Given the description of an element on the screen output the (x, y) to click on. 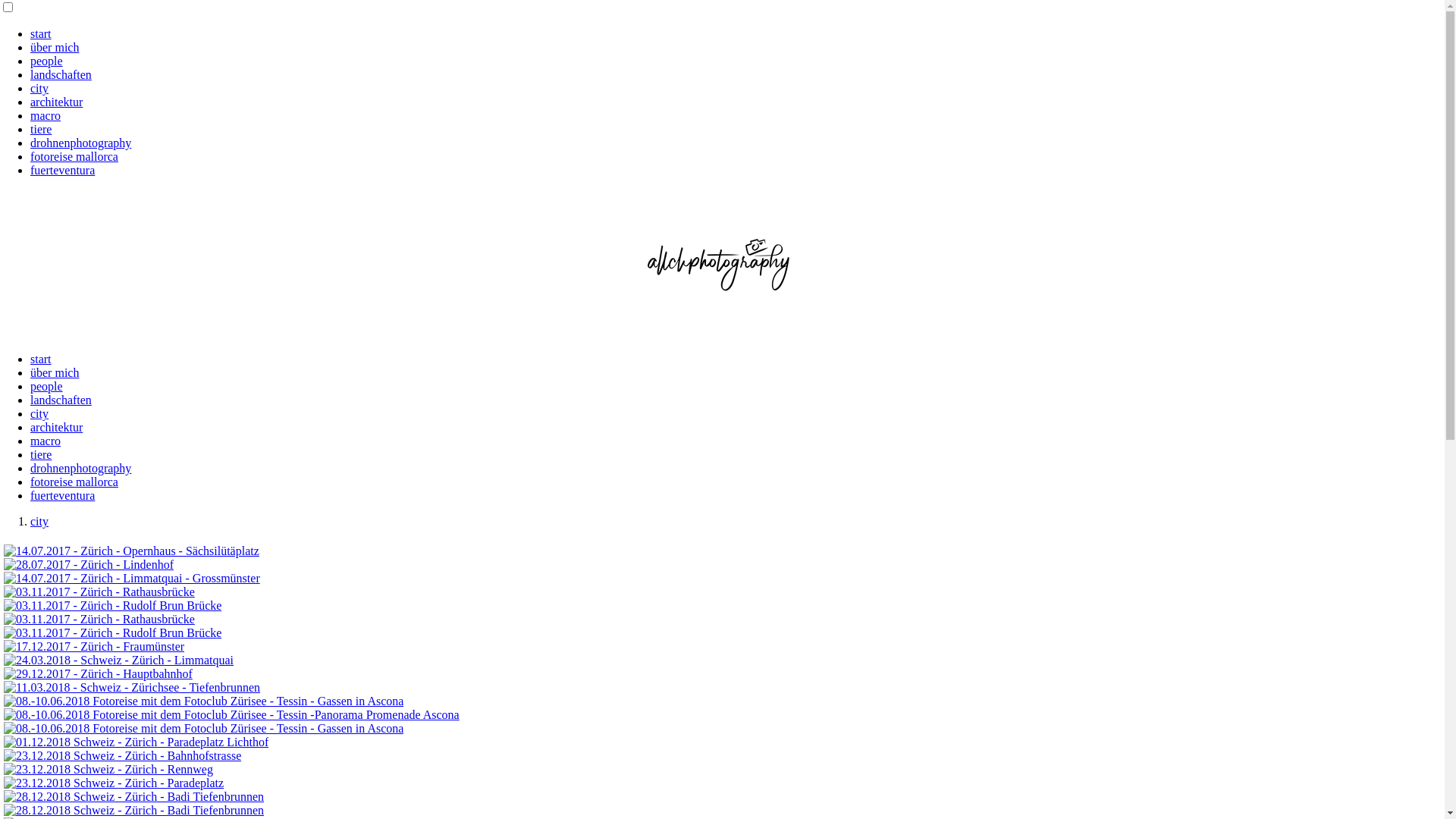
city Element type: text (39, 520)
macro Element type: text (45, 115)
macro Element type: text (45, 440)
drohnenphotography Element type: text (80, 142)
fuerteventura Element type: text (62, 495)
architektur Element type: text (56, 101)
city Element type: text (39, 87)
landschaften Element type: text (60, 399)
start Element type: text (40, 33)
people Element type: text (46, 60)
tiere Element type: text (40, 128)
fuerteventura Element type: text (62, 169)
tiere Element type: text (40, 454)
landschaften Element type: text (60, 74)
drohnenphotography Element type: text (80, 467)
start Element type: text (40, 358)
architektur Element type: text (56, 426)
city Element type: text (39, 413)
people Element type: text (46, 385)
fotoreise mallorca Element type: text (74, 156)
fotoreise mallorca Element type: text (74, 481)
